Given the description of an element on the screen output the (x, y) to click on. 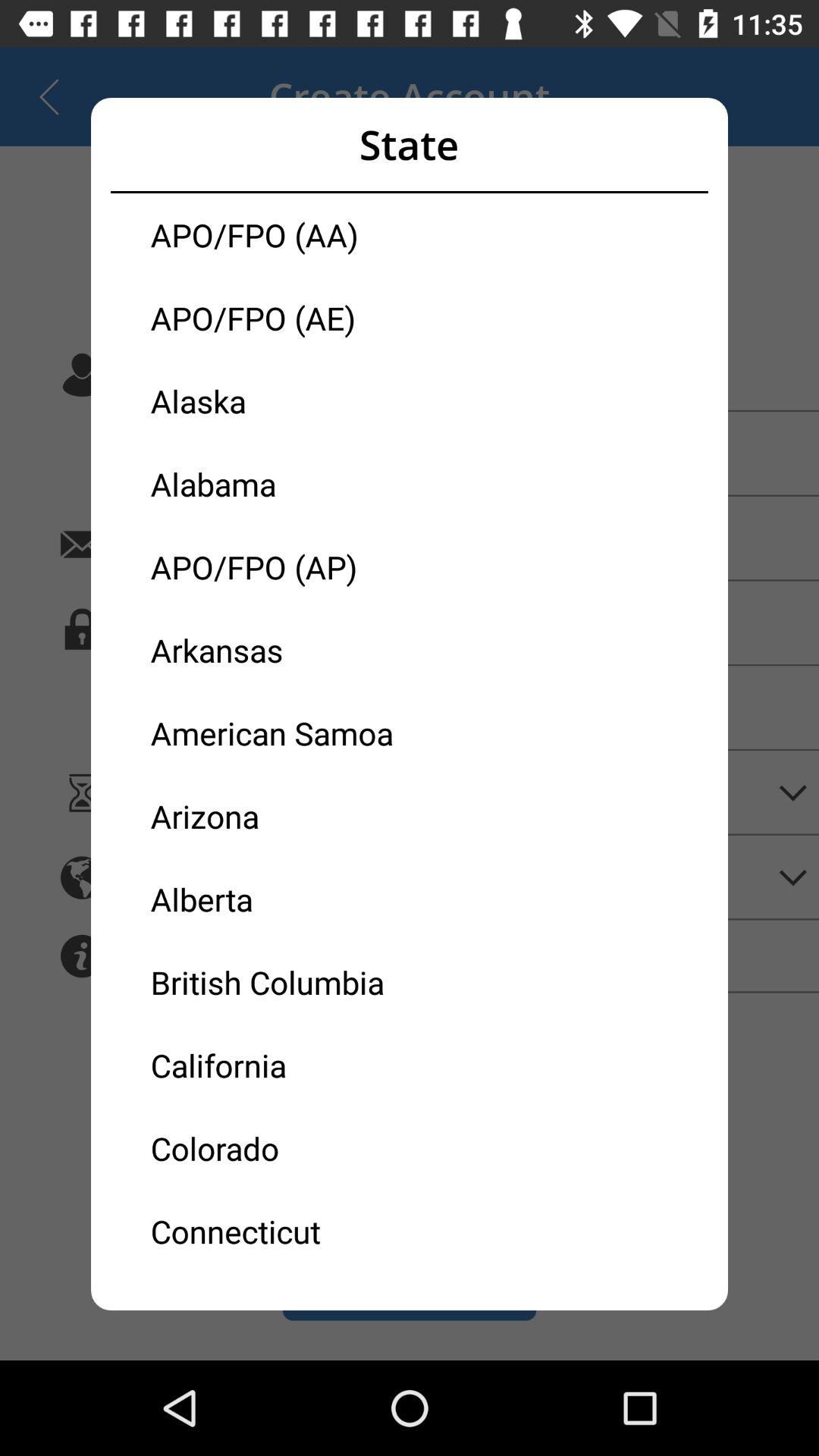
tap the icon below the arkansas item (279, 732)
